Given the description of an element on the screen output the (x, y) to click on. 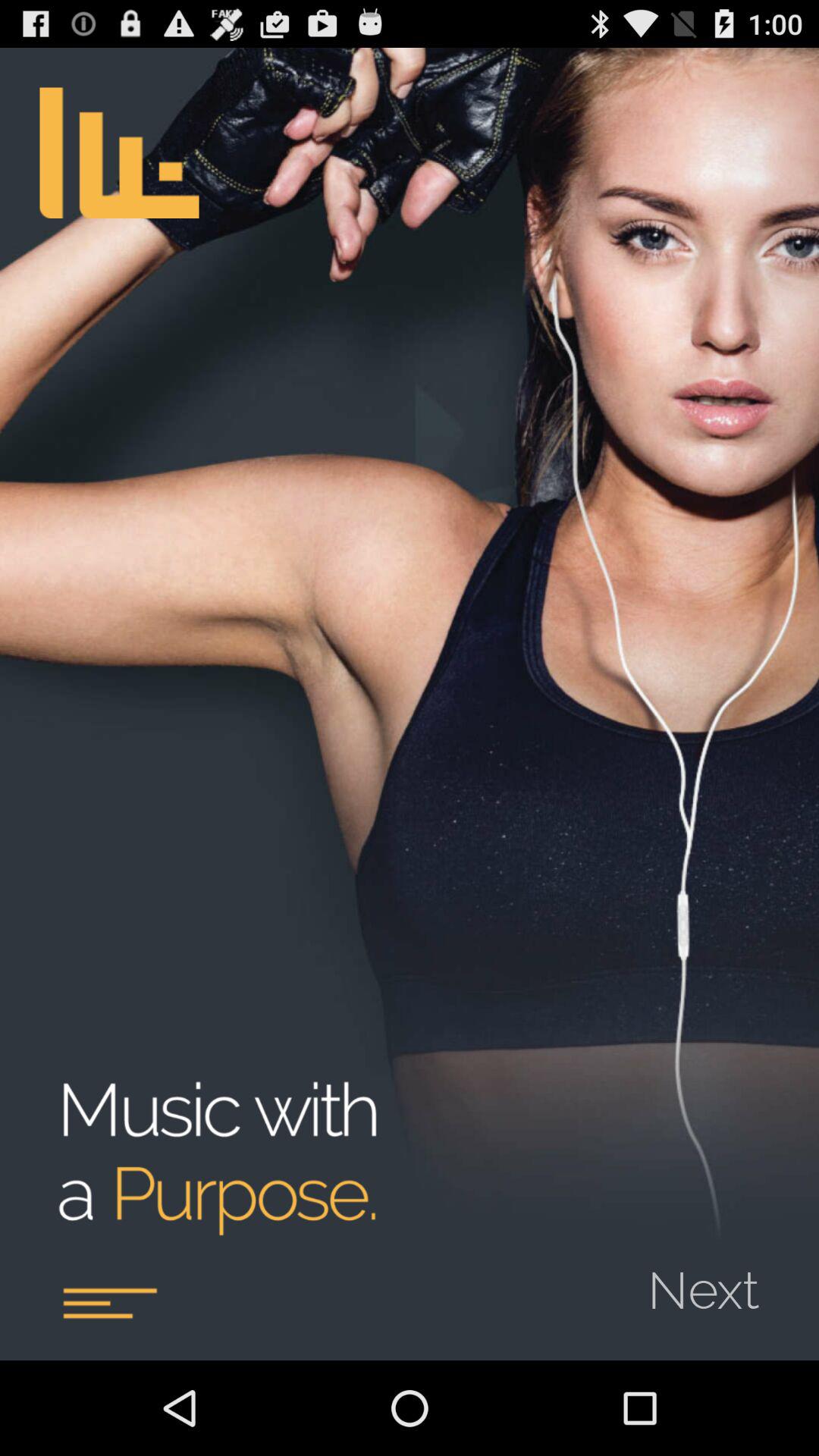
turn off the item at the bottom left corner (109, 1302)
